Given the description of an element on the screen output the (x, y) to click on. 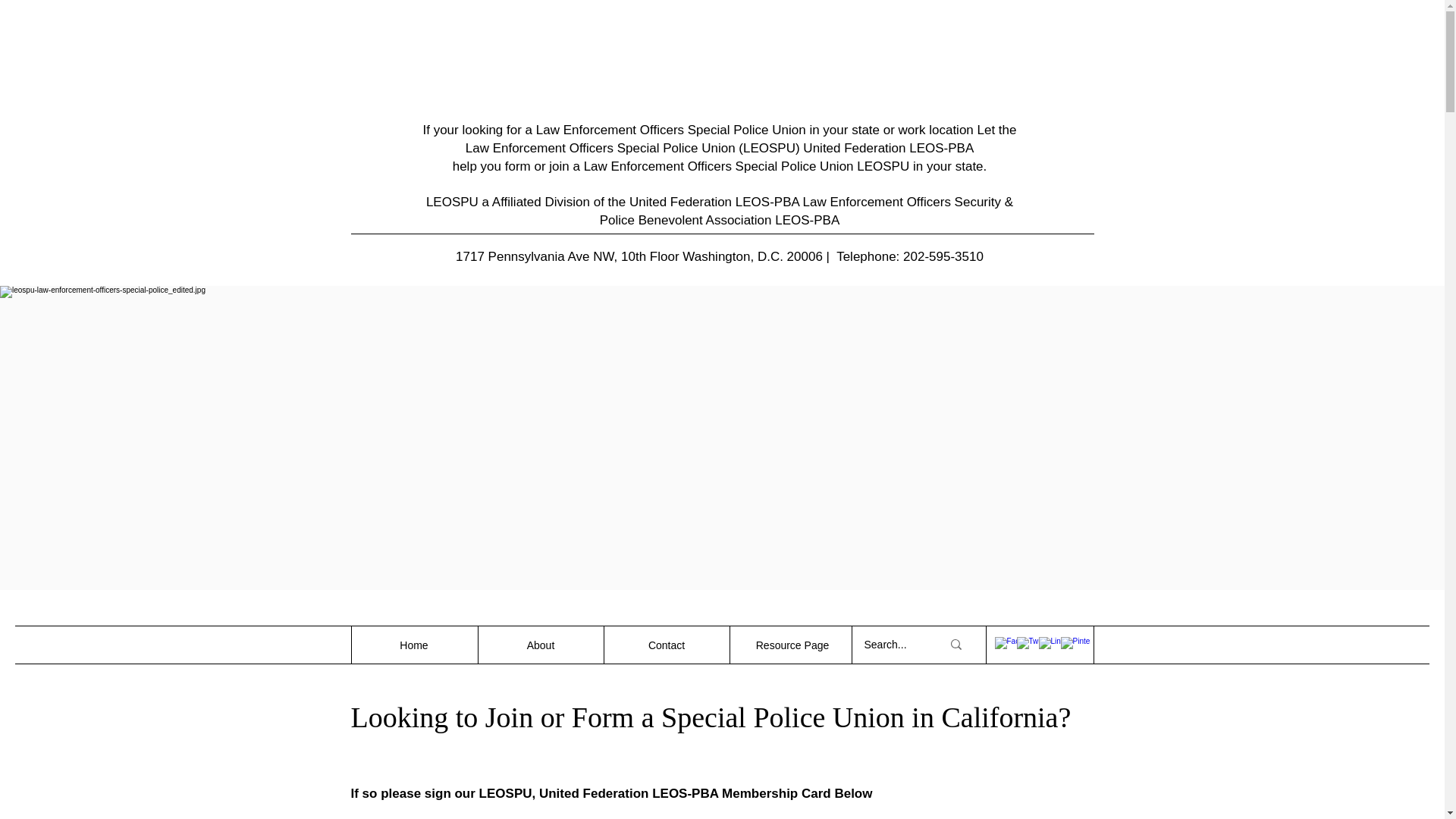
About (540, 645)
Resource Page (792, 645)
Contact (666, 645)
Home (413, 645)
